Given the description of an element on the screen output the (x, y) to click on. 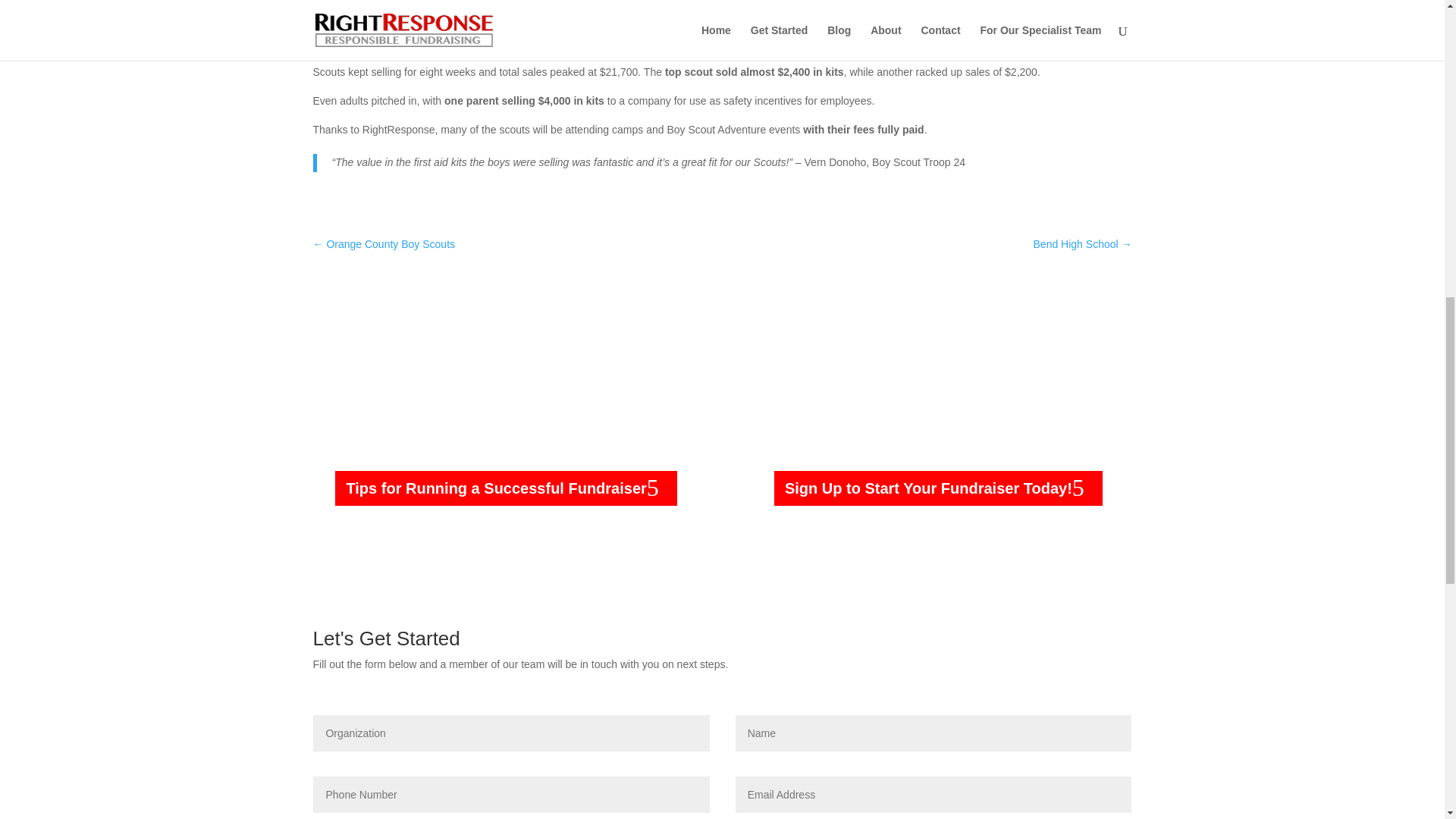
Sign Up to Start Your Fundraiser Today! (938, 488)
Tips for Running a Successful Fundraiser (505, 488)
